Given the description of an element on the screen output the (x, y) to click on. 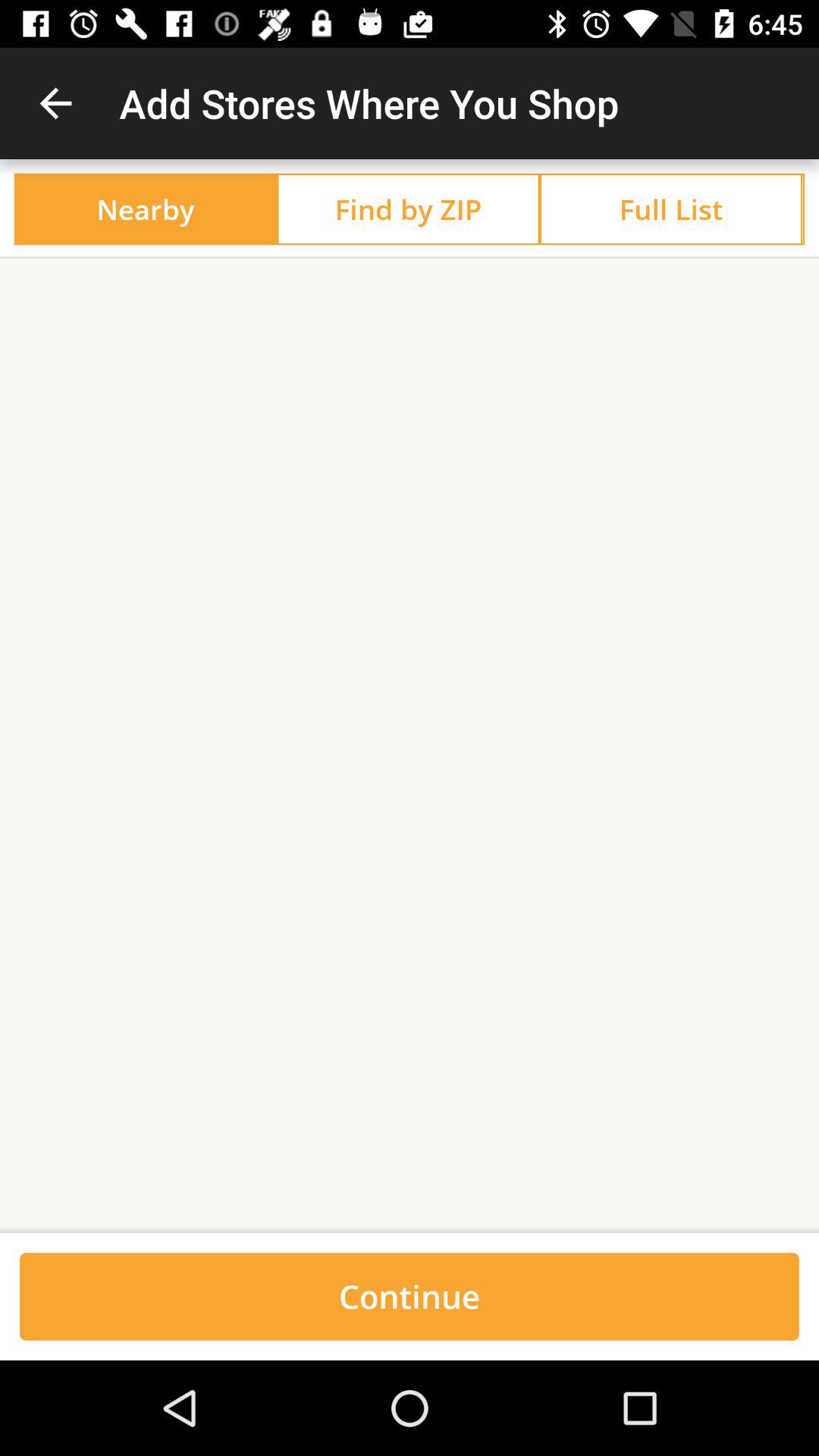
press the icon at the center (409, 745)
